Given the description of an element on the screen output the (x, y) to click on. 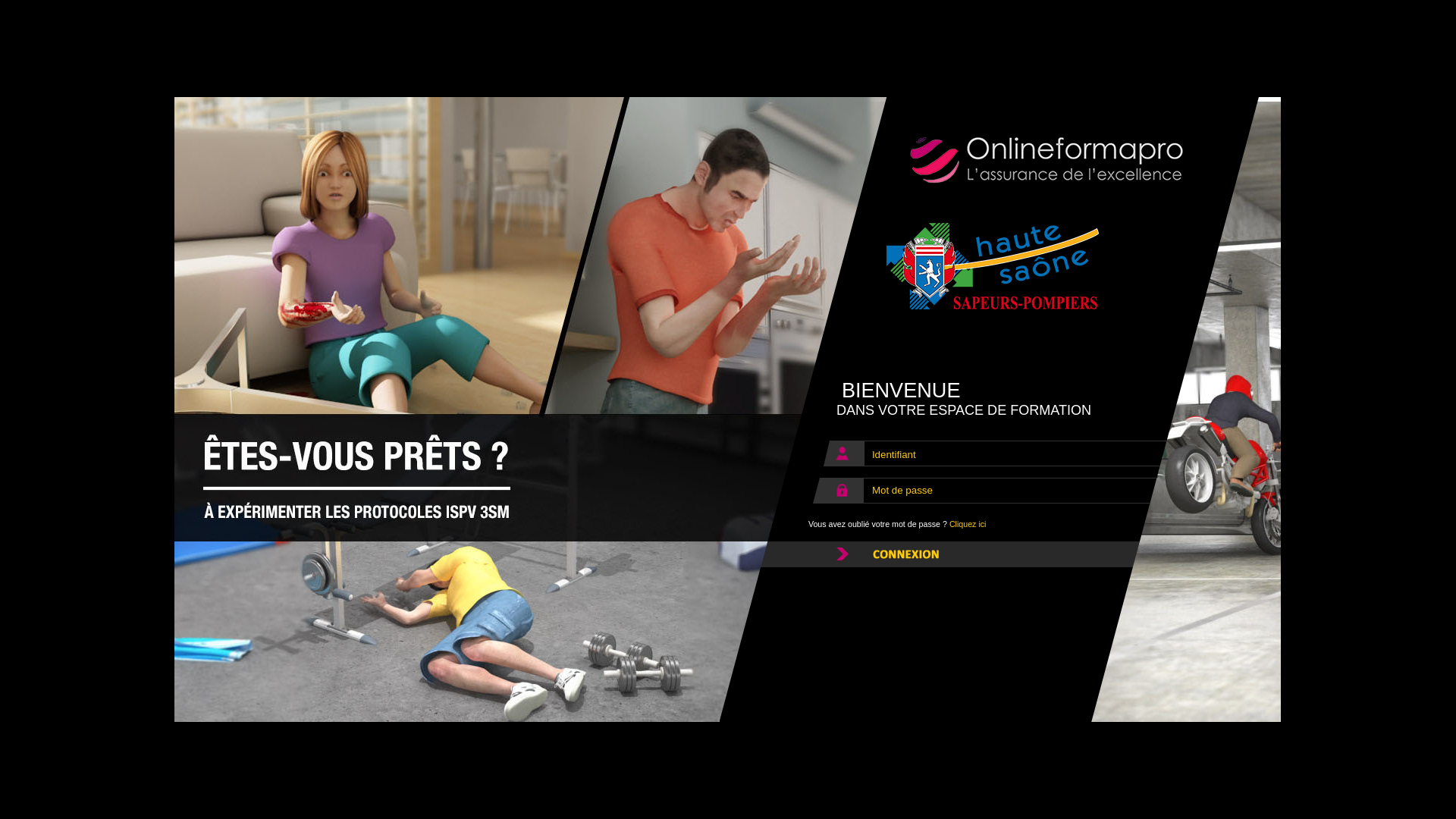
CONNEXION Element type: text (1001, 553)
Cliquez ici Element type: text (967, 523)
